Given the description of an element on the screen output the (x, y) to click on. 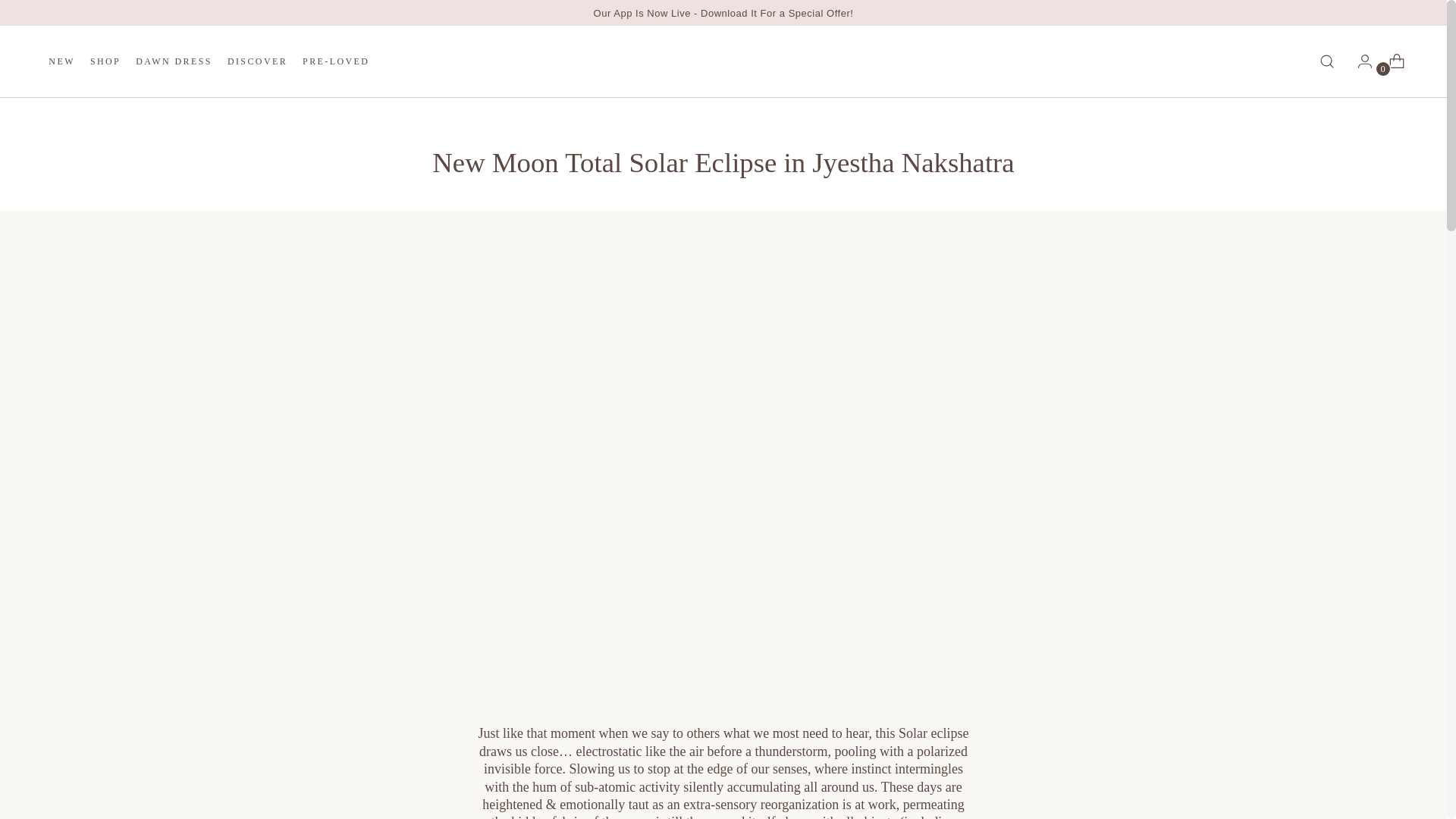
PRE-LOVED (335, 61)
DAWN DRESS (173, 61)
Our App Is Now Live - Download It For a Special Offer! (208, 61)
DISCOVER (723, 12)
SHOP (256, 61)
